Given the description of an element on the screen output the (x, y) to click on. 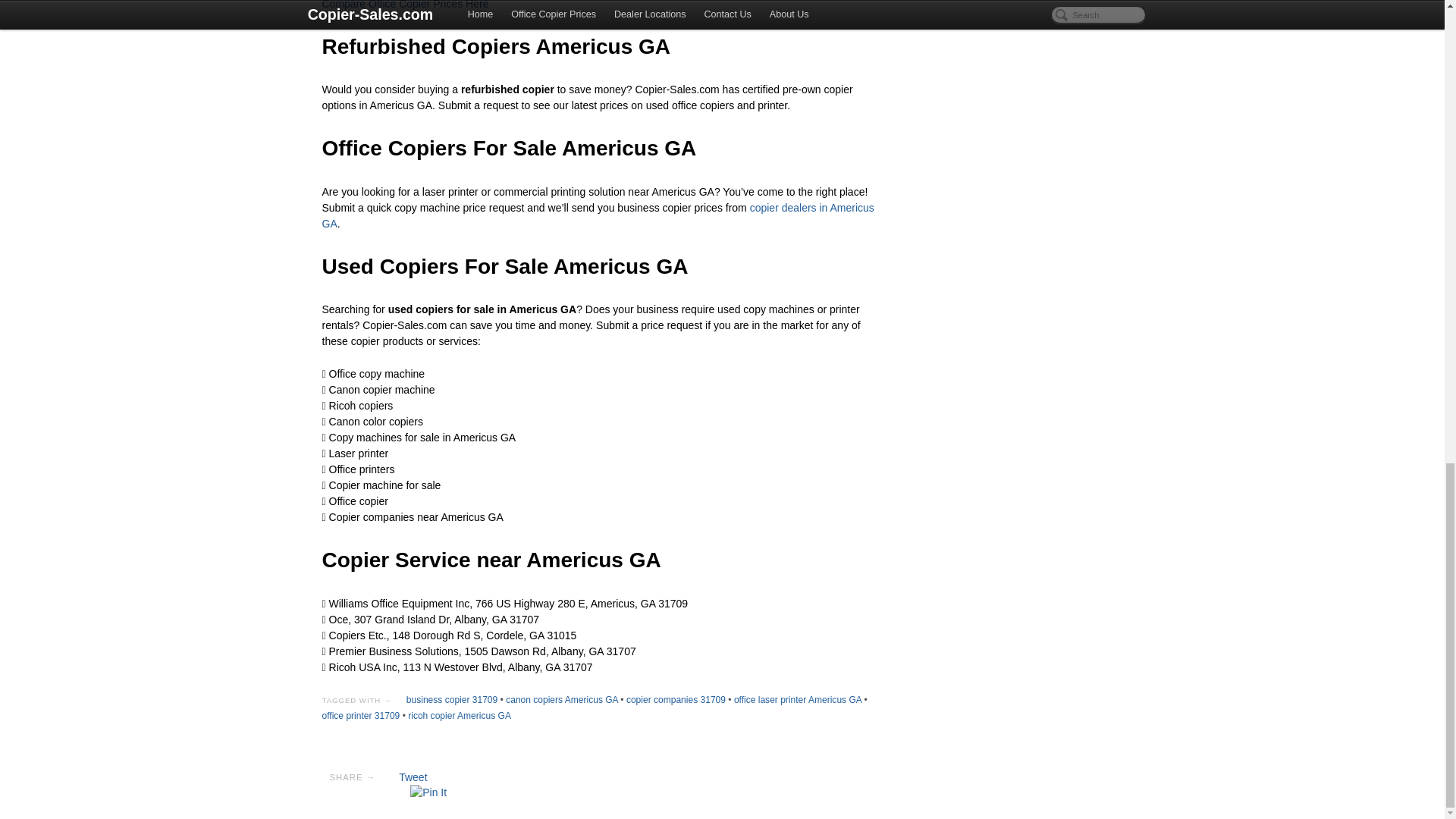
ricoh copier Americus GA (459, 715)
business copier 31709 (451, 699)
office laser printer Americus GA (797, 699)
Tweet (412, 776)
office printer 31709 (359, 715)
Compare Office Copier Prices Here (404, 4)
Pin It (428, 792)
canon copiers Americus GA (561, 699)
copier companies 31709 (675, 699)
copier dealers in Americus GA (597, 215)
